Given the description of an element on the screen output the (x, y) to click on. 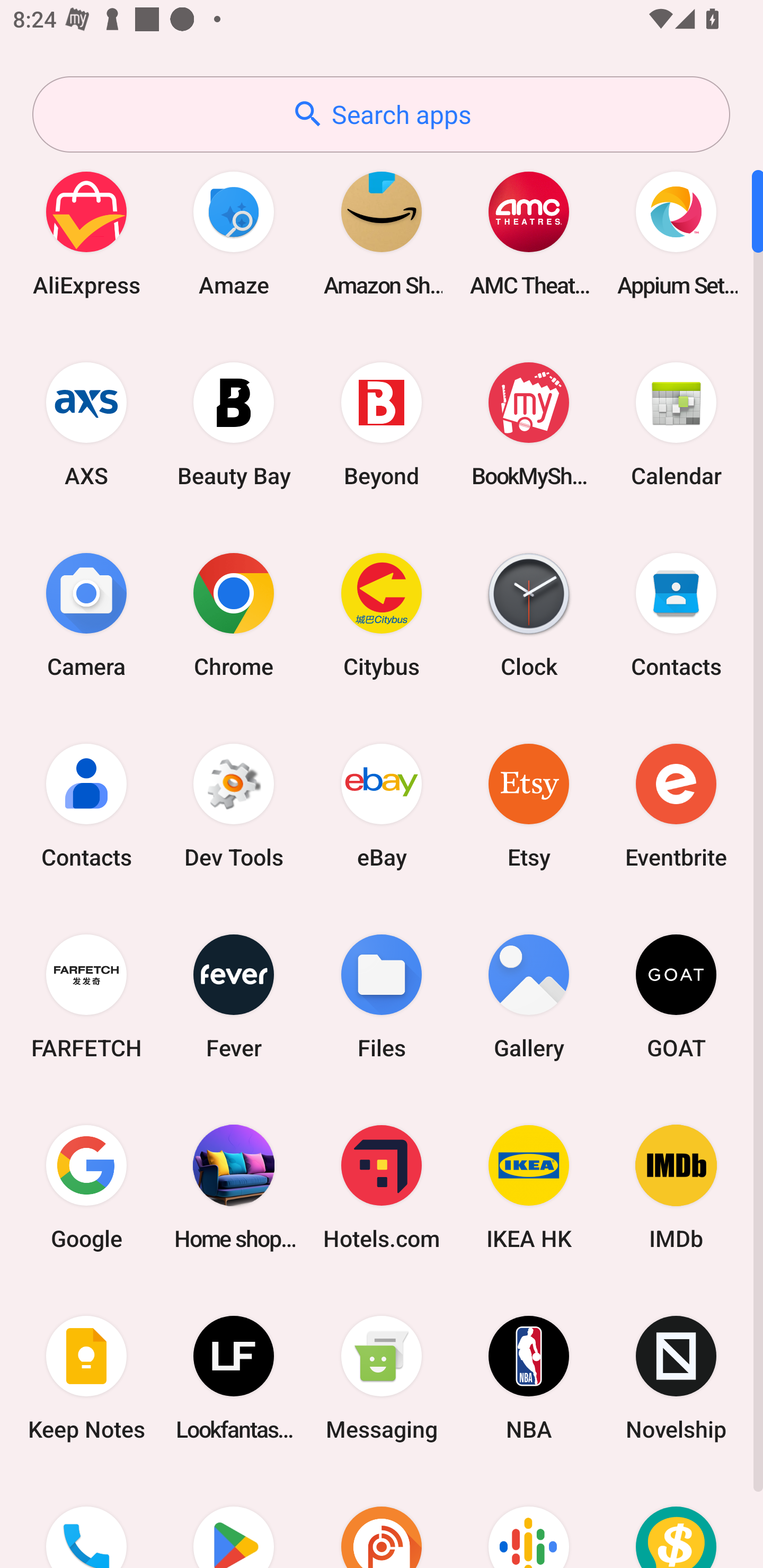
  Search apps (381, 114)
AliExpress (86, 233)
Amaze (233, 233)
Amazon Shopping (381, 233)
AMC Theatres (528, 233)
Appium Settings (676, 233)
AXS (86, 424)
Beauty Bay (233, 424)
Beyond (381, 424)
BookMyShow (528, 424)
Calendar (676, 424)
Camera (86, 614)
Chrome (233, 614)
Citybus (381, 614)
Clock (528, 614)
Contacts (676, 614)
Contacts (86, 805)
Dev Tools (233, 805)
eBay (381, 805)
Etsy (528, 805)
Eventbrite (676, 805)
FARFETCH (86, 996)
Fever (233, 996)
Files (381, 996)
Gallery (528, 996)
GOAT (676, 996)
Google (86, 1186)
Home shopping (233, 1186)
Hotels.com (381, 1186)
IKEA HK (528, 1186)
IMDb (676, 1186)
Keep Notes (86, 1377)
Lookfantastic (233, 1377)
Messaging (381, 1377)
NBA (528, 1377)
Novelship (676, 1377)
Phone (86, 1520)
Play Store (233, 1520)
Podcast Addict (381, 1520)
Podcasts (528, 1520)
Price (676, 1520)
